Given the description of an element on the screen output the (x, y) to click on. 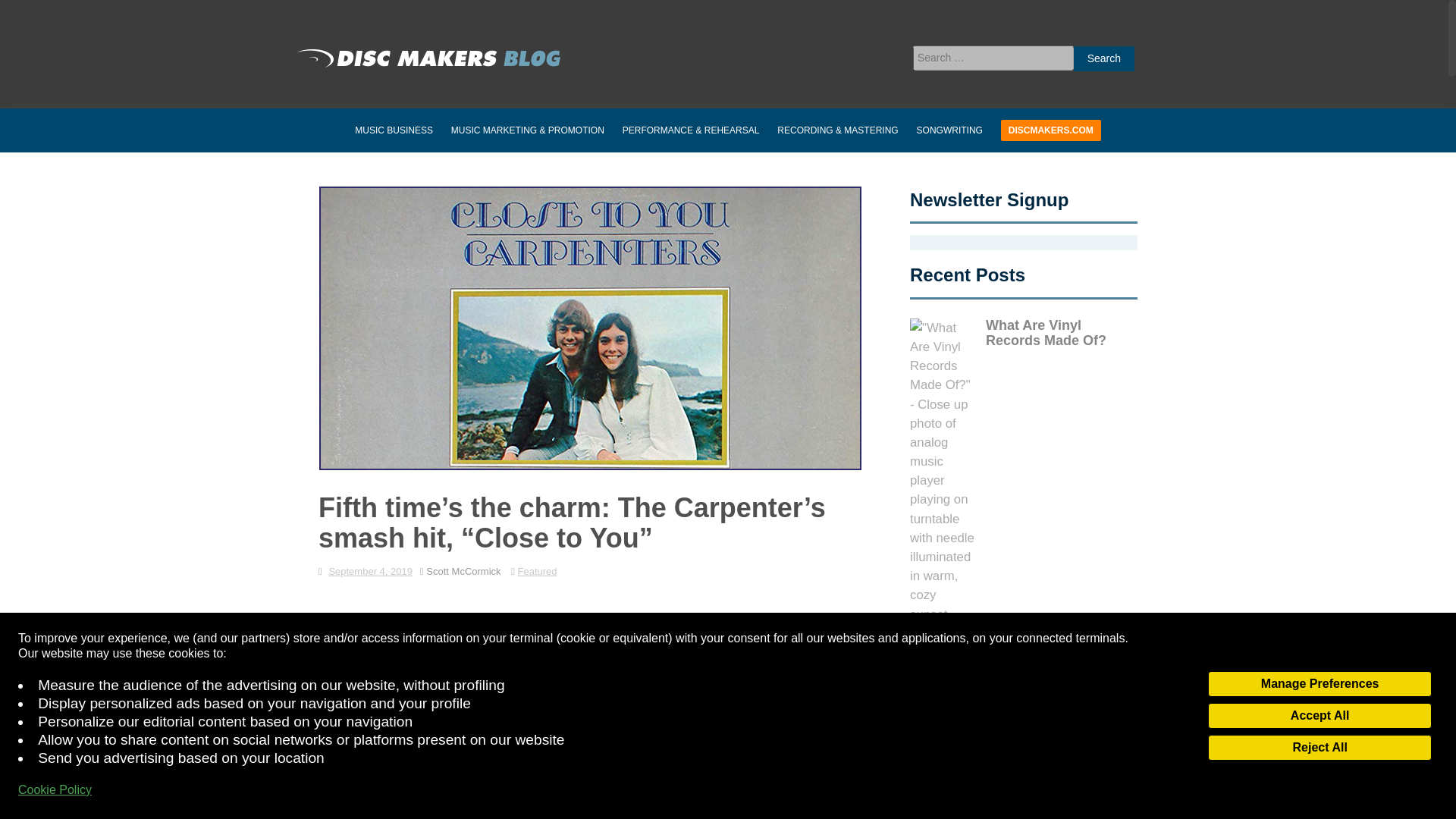
Twitter (374, 628)
Search (1104, 58)
Facebook (341, 628)
Disc Makers Blog (427, 58)
Search (1104, 58)
LinkedIn (511, 628)
Search (1104, 58)
DISCMAKERS.COM (1050, 130)
RSS (478, 628)
MUSIC BUSINESS (393, 130)
